Given the description of an element on the screen output the (x, y) to click on. 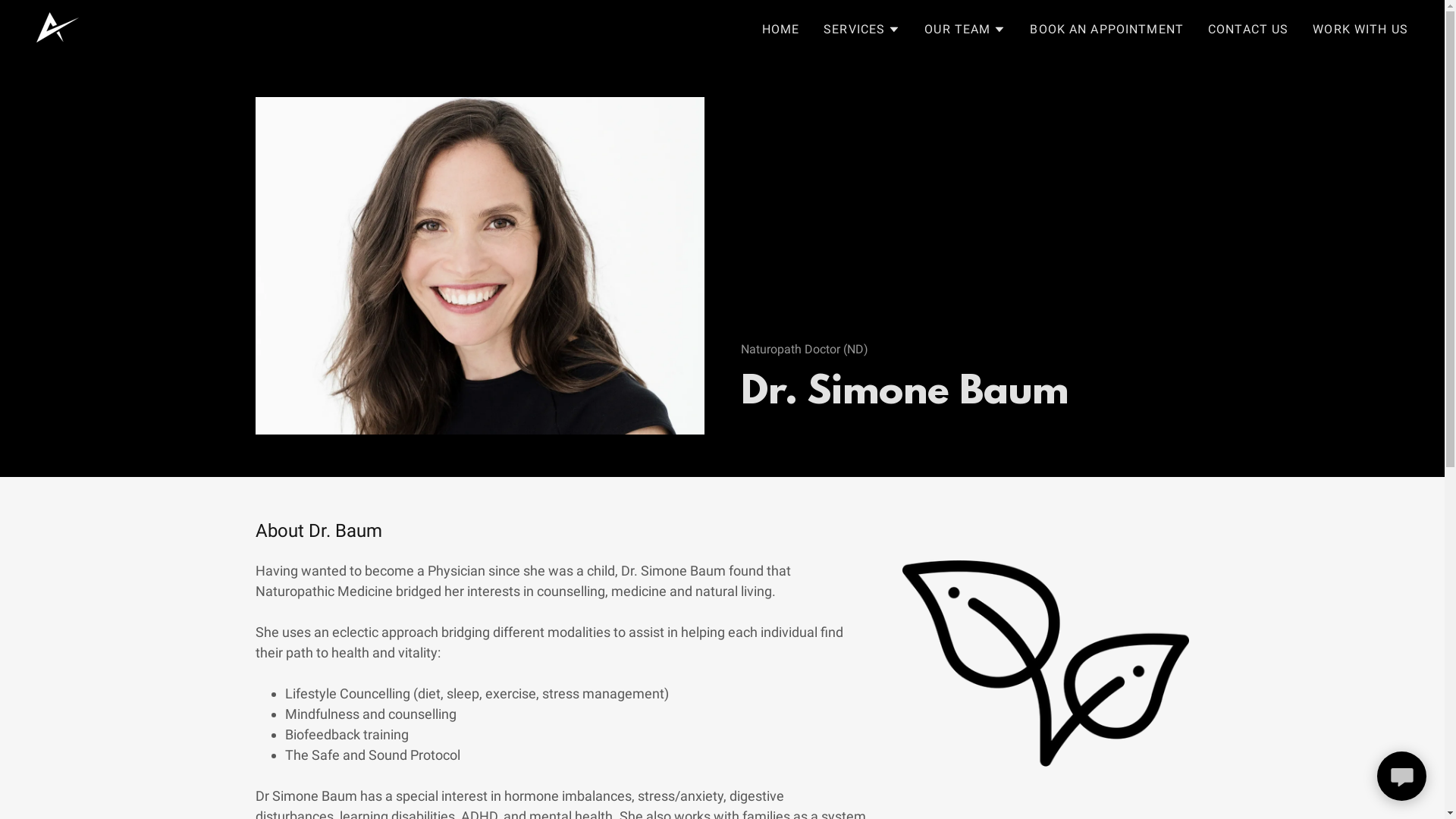
HOME Element type: text (780, 28)
WORK WITH US Element type: text (1360, 28)
Accel Health & Athletics Inc. Element type: hover (57, 26)
OUR TEAM Element type: text (964, 28)
SERVICES Element type: text (861, 28)
CONTACT US Element type: text (1247, 28)
BOOK AN APPOINTMENT Element type: text (1106, 28)
